Given the description of an element on the screen output the (x, y) to click on. 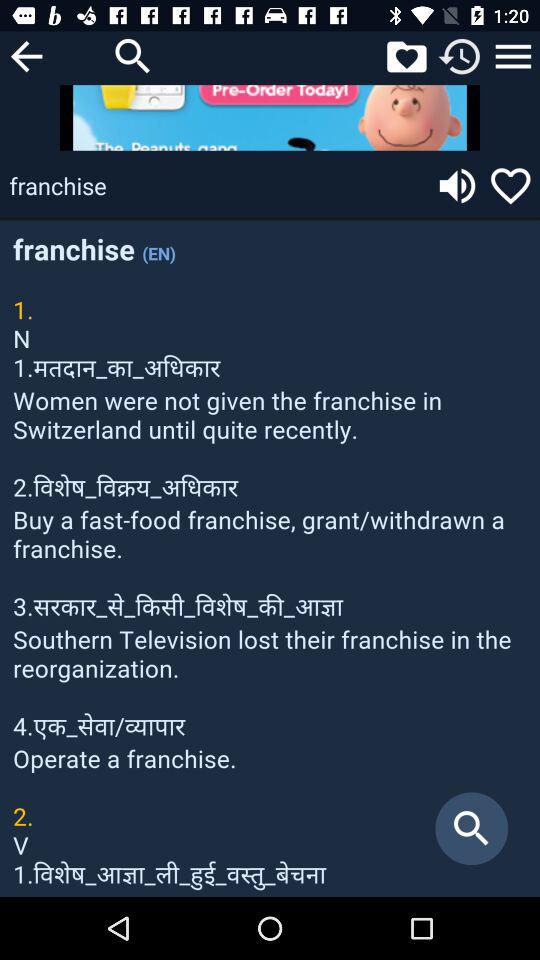
go to like (510, 185)
